Given the description of an element on the screen output the (x, y) to click on. 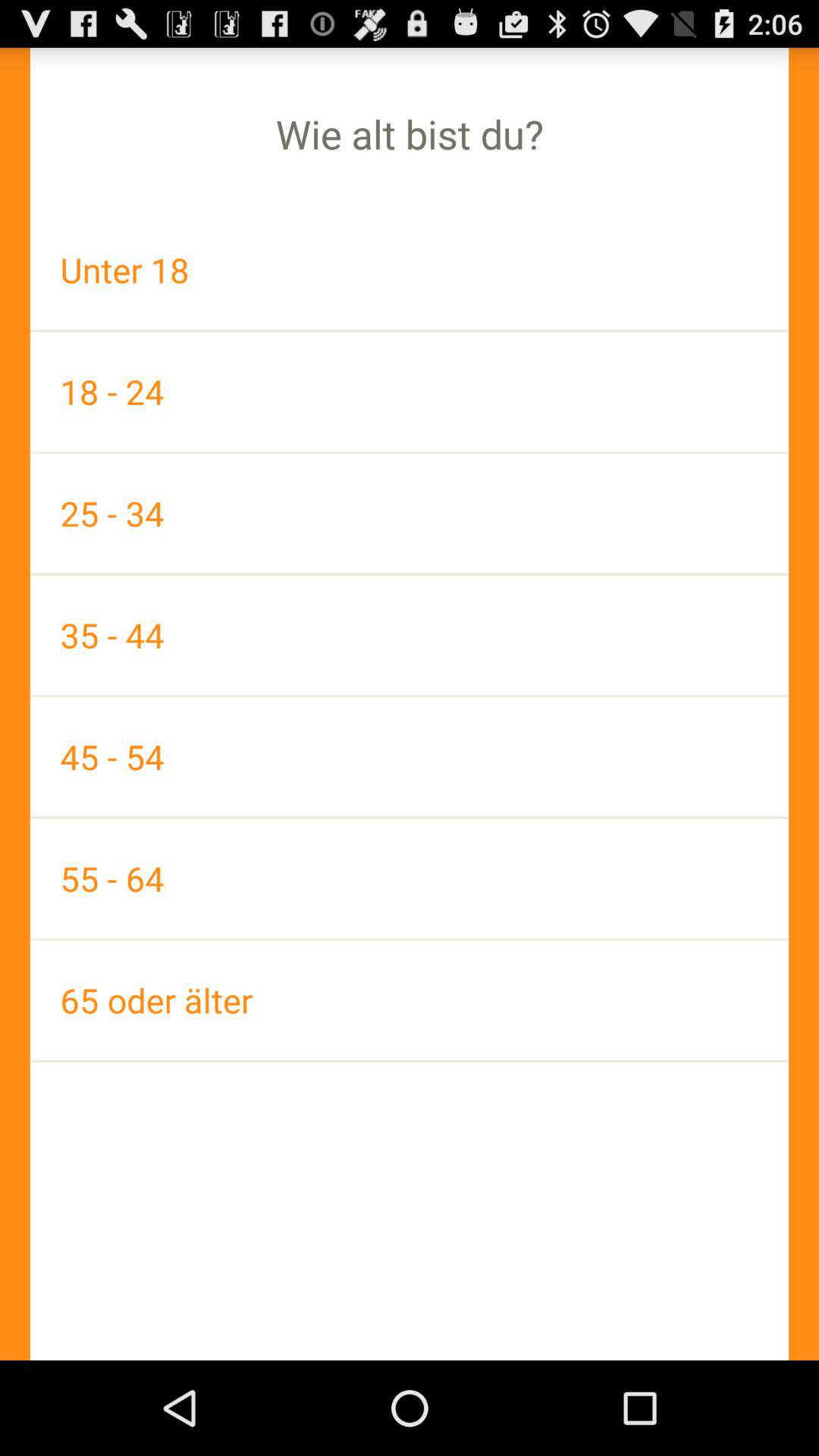
launch 18 - 24 item (409, 391)
